Given the description of an element on the screen output the (x, y) to click on. 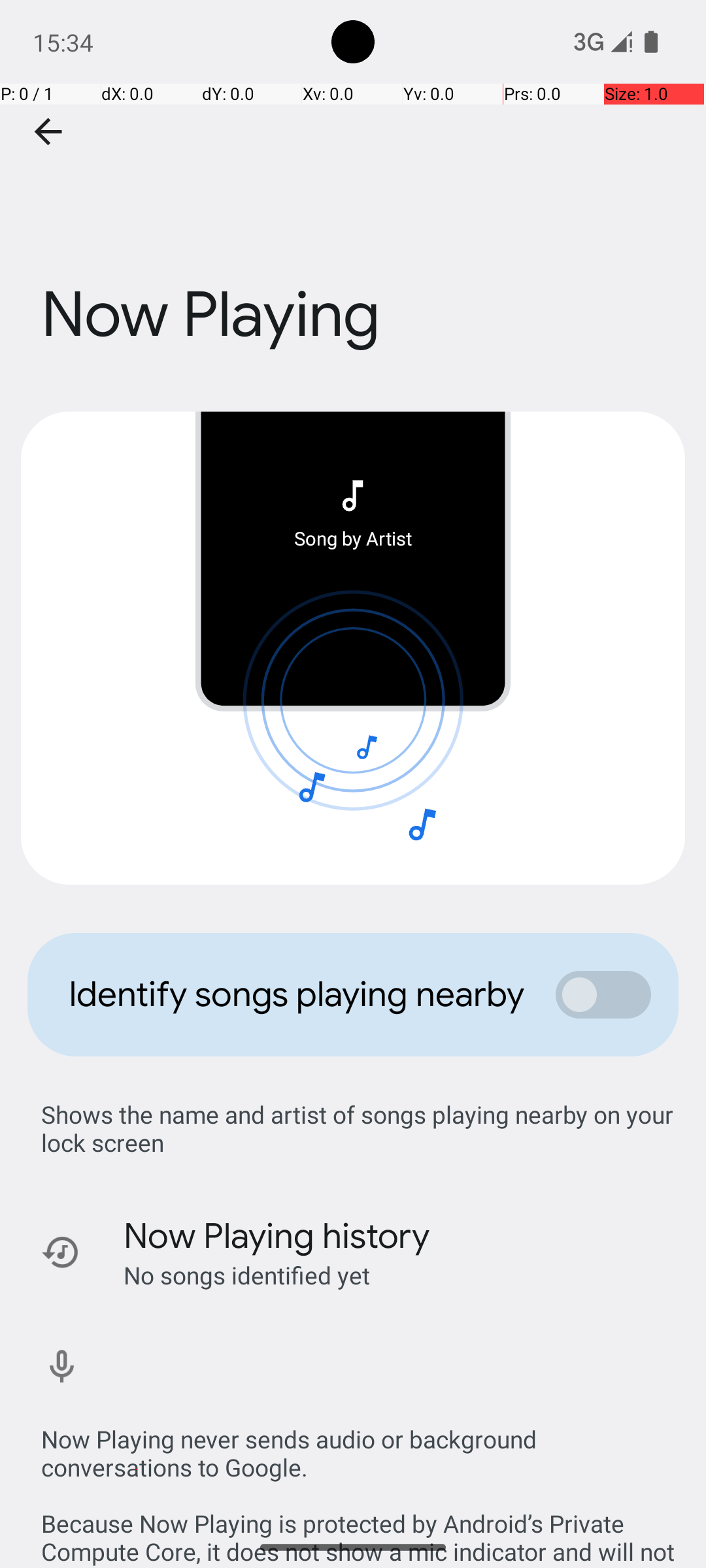
Now Playing Element type: android.widget.FrameLayout (353, 236)
Identify songs playing nearby Element type: android.widget.TextView (298, 994)
Shows the name and artist of songs playing nearby on your lock screen Element type: android.widget.TextView (359, 1128)
Now Playing history Element type: android.widget.TextView (276, 1235)
No songs identified yet Element type: android.widget.TextView (246, 1274)
Now Playing never sends audio or background conversations to Google.

Because Now Playing is protected by Android’s Private Compute Core, it does not show a mic indicator and will not appear on your Privacy dashboard. Element type: android.widget.TextView (359, 1481)
